Given the description of an element on the screen output the (x, y) to click on. 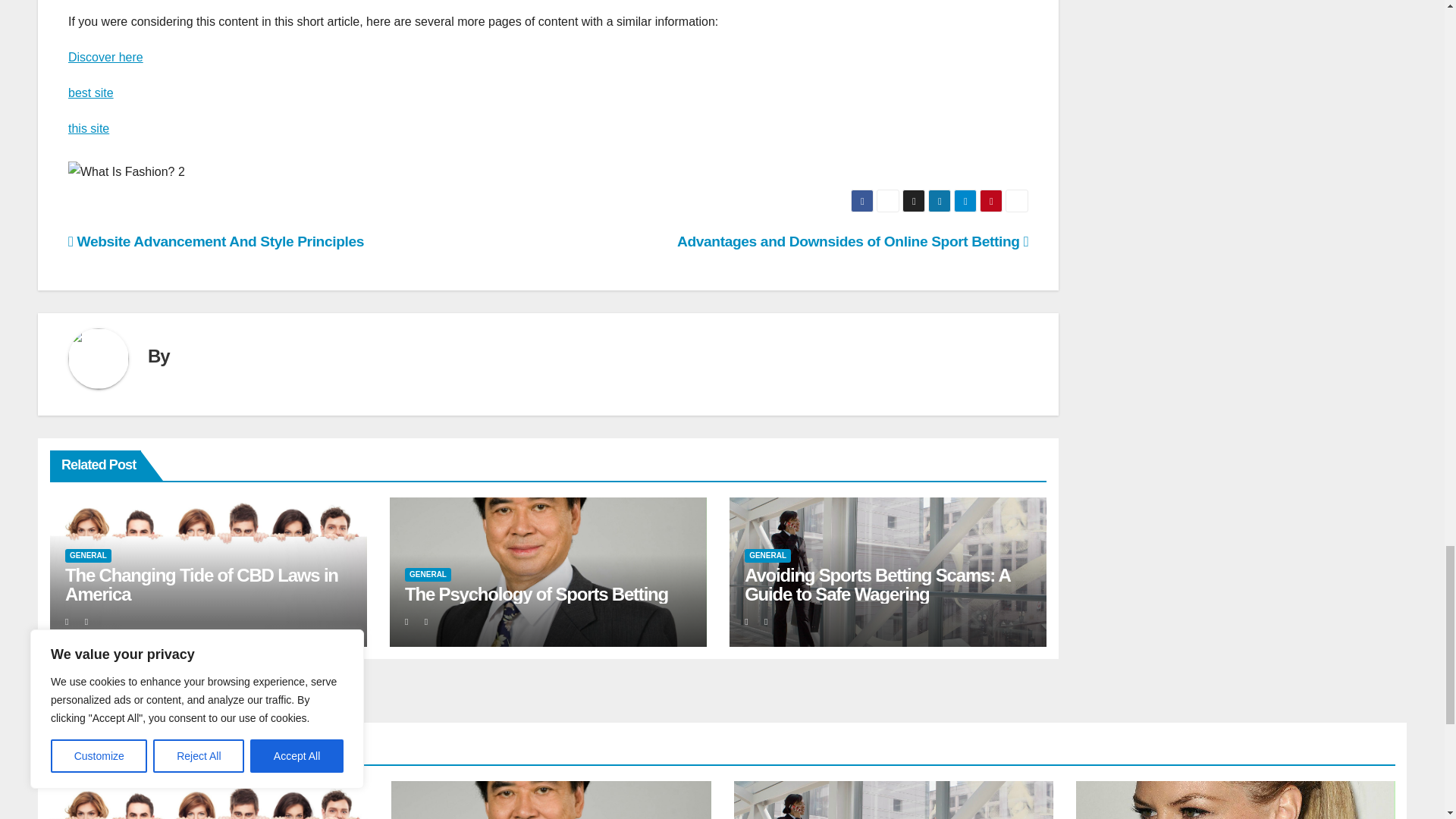
Discover here (105, 56)
Permalink to: The Changing Tide of CBD Laws in America (201, 584)
Permalink to: The Psychology of Sports Betting (536, 593)
this site (88, 128)
best site (90, 92)
